Given the description of an element on the screen output the (x, y) to click on. 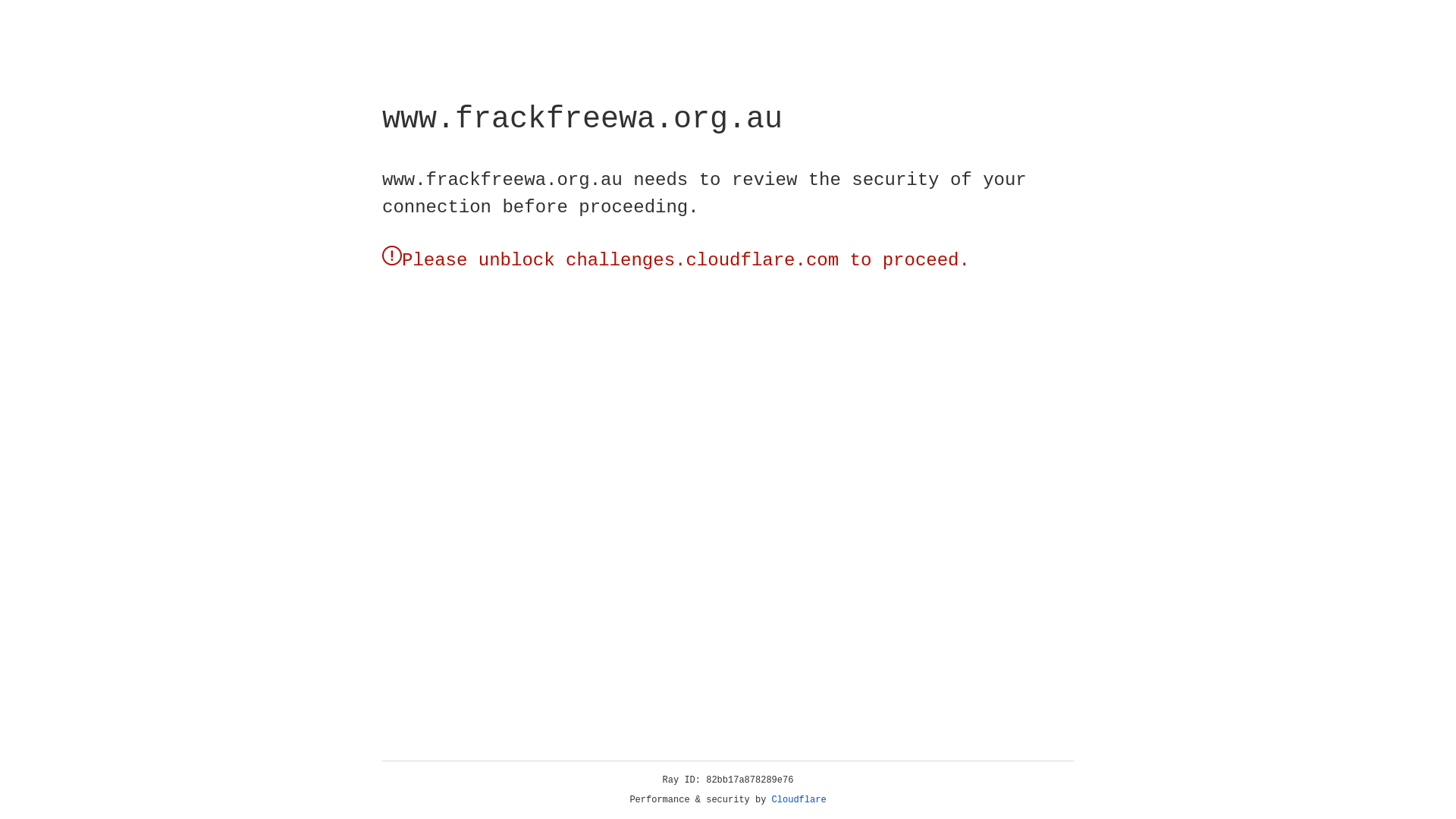
Cloudflare Element type: text (798, 799)
